Given the description of an element on the screen output the (x, y) to click on. 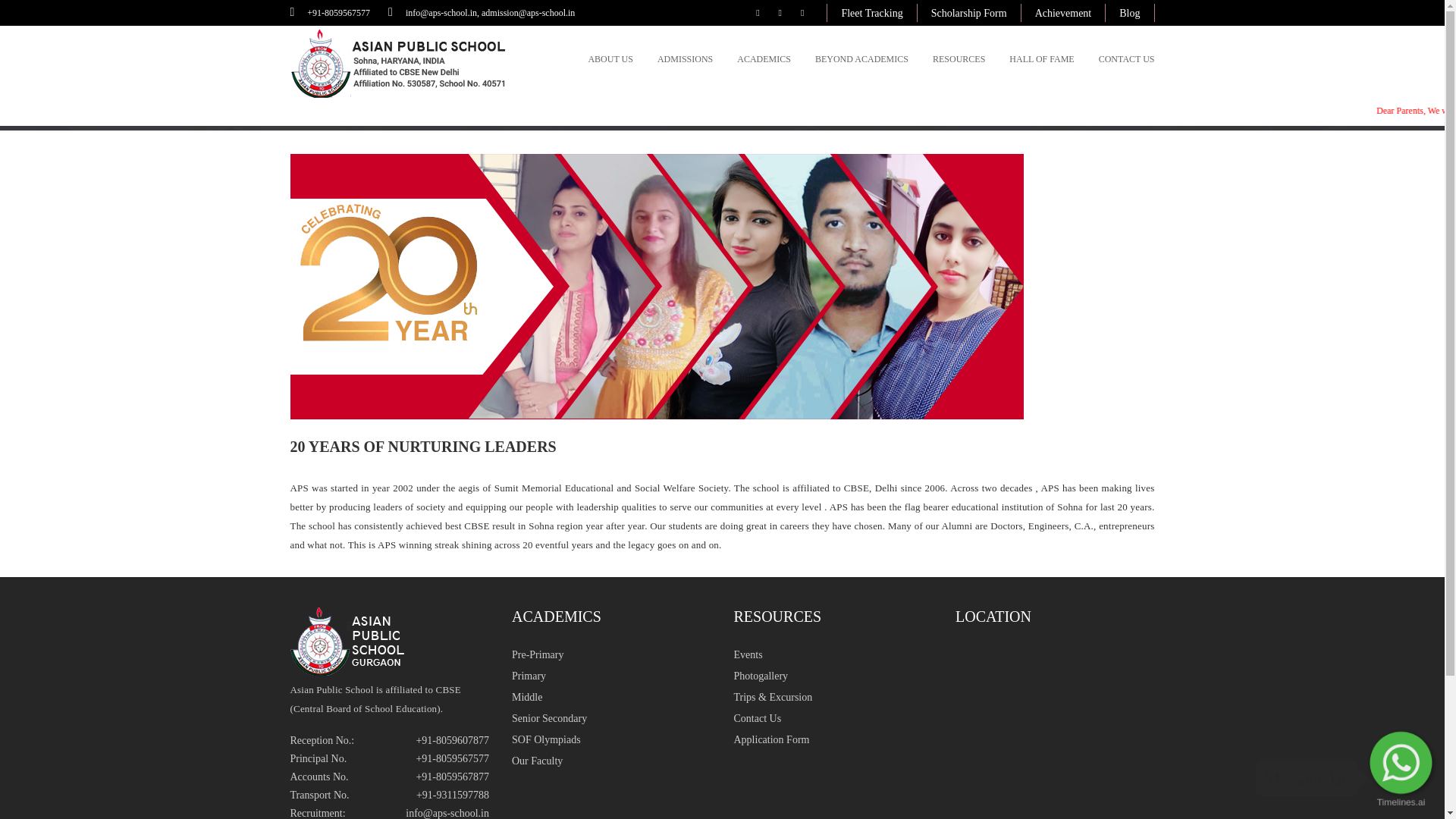
BEYOND ACADEMICS (861, 58)
Blog (1129, 13)
Blog (1129, 13)
ADMISSIONS (685, 58)
Scholarship Form (968, 13)
Achievement (1063, 13)
Fleet Tracking (871, 13)
Scholarship Form (968, 13)
Achievement (1063, 13)
ACADEMICS (763, 58)
ABOUT US (609, 58)
Fleet Tracking (871, 13)
